Given the description of an element on the screen output the (x, y) to click on. 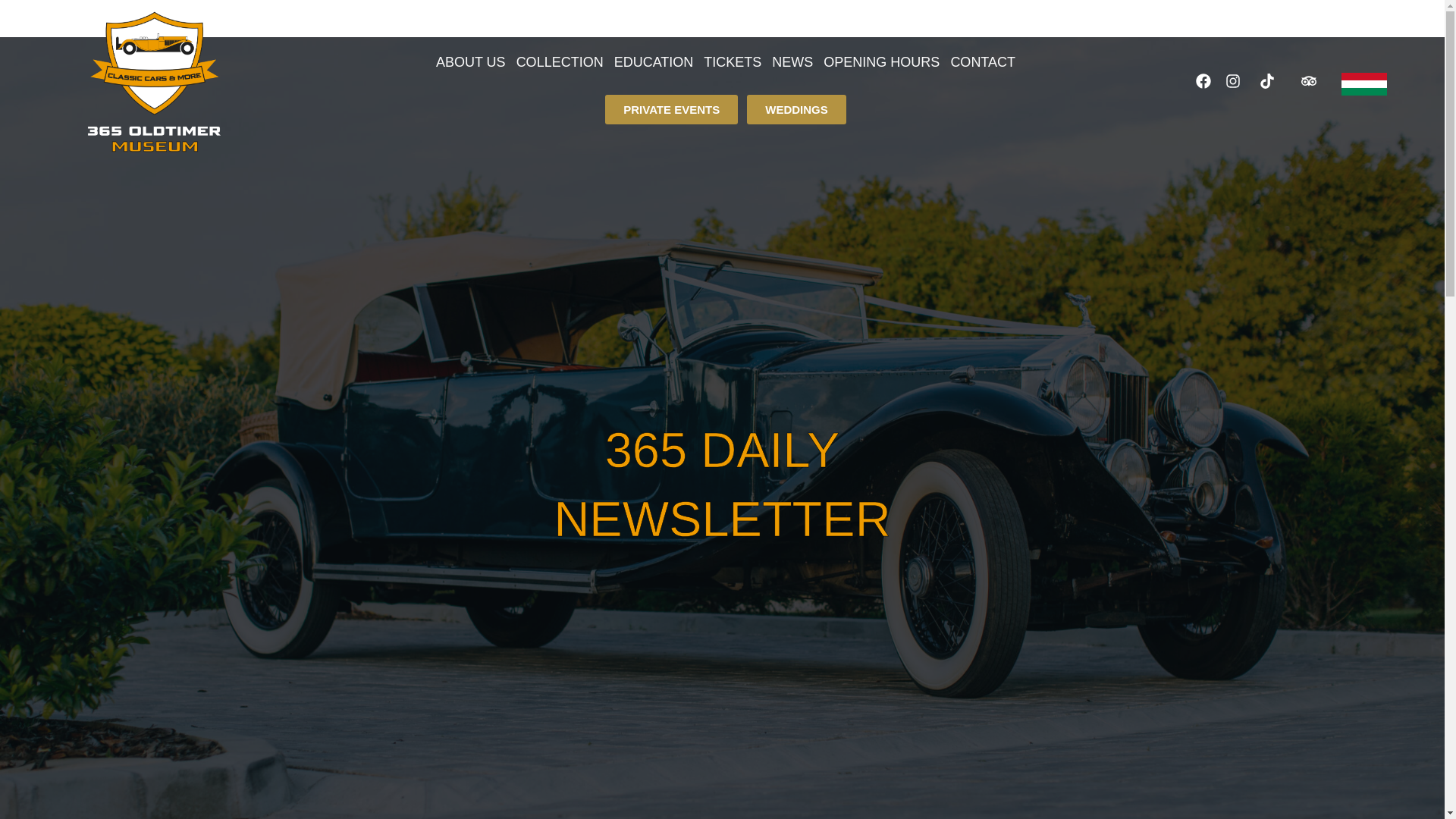
ABOUT US (470, 62)
WEDDINGS (795, 109)
TICKETS (732, 62)
CONTACT (982, 62)
OPENING HOURS (881, 62)
PRIVATE EVENTS (671, 109)
EDUCATION (653, 62)
NEWS (792, 62)
COLLECTION (559, 62)
